Given the description of an element on the screen output the (x, y) to click on. 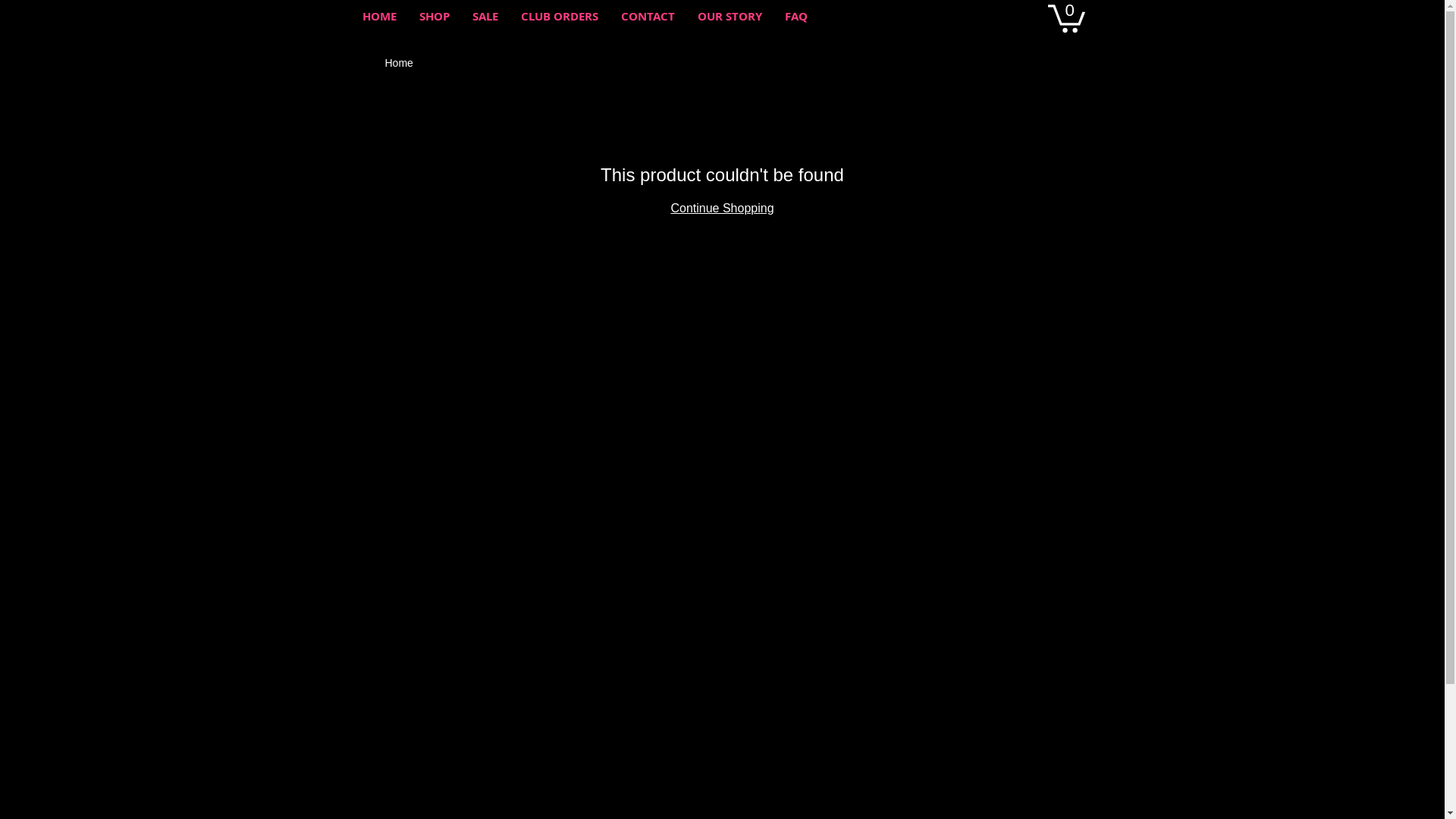
SHOP Element type: text (434, 16)
FAQ Element type: text (796, 16)
SALE Element type: text (485, 16)
CLUB ORDERS Element type: text (559, 16)
0 Element type: text (1066, 16)
Home Element type: text (399, 62)
CONTACT Element type: text (647, 16)
Continue Shopping Element type: text (721, 207)
OUR STORY Element type: text (728, 16)
HOME Element type: text (378, 16)
